Given the description of an element on the screen output the (x, y) to click on. 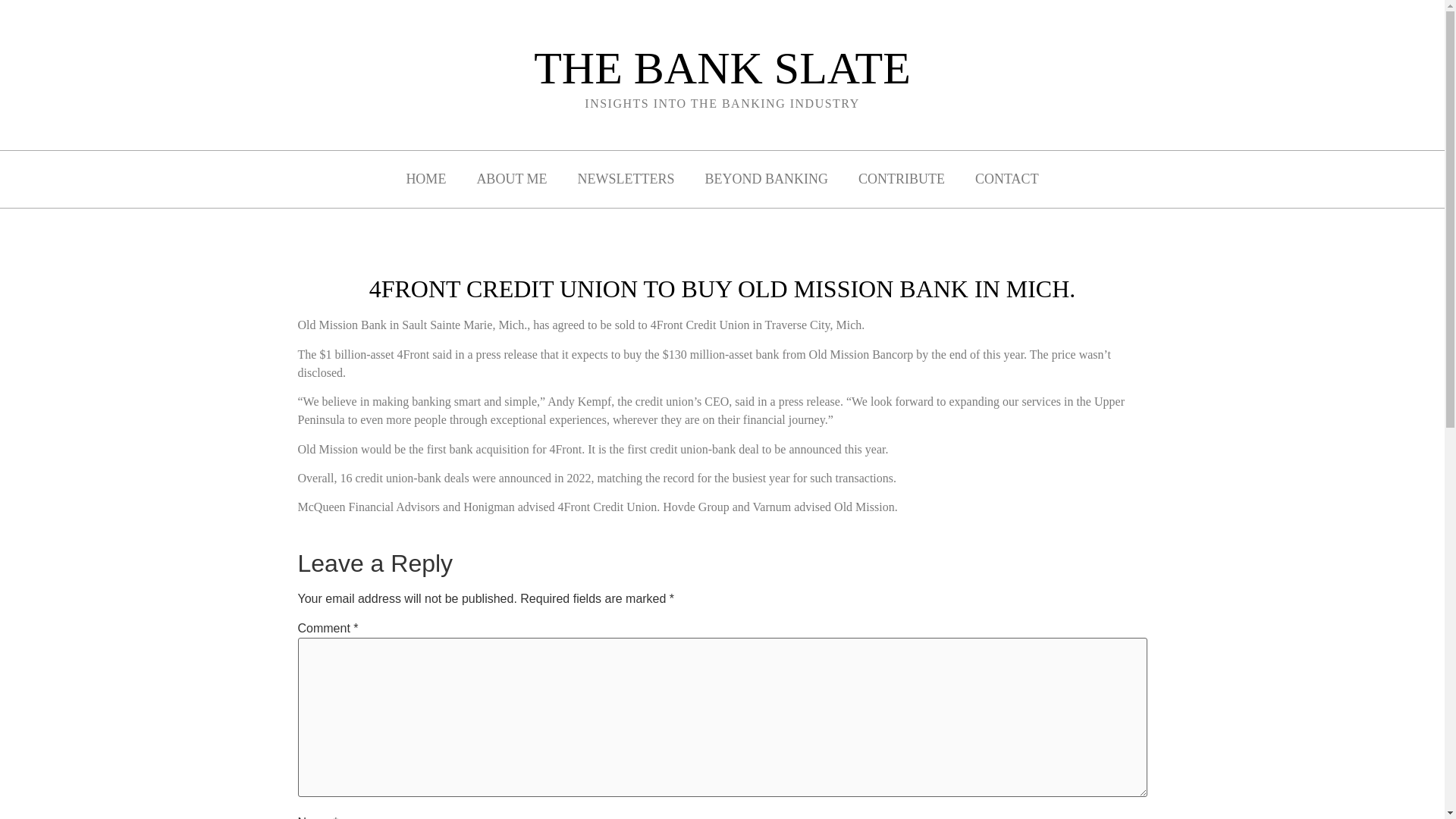
NEWSLETTERS (626, 178)
CONTRIBUTE (901, 178)
BEYOND BANKING (767, 178)
HOME (425, 178)
CONTACT (1006, 178)
ABOUT ME (511, 178)
